Given the description of an element on the screen output the (x, y) to click on. 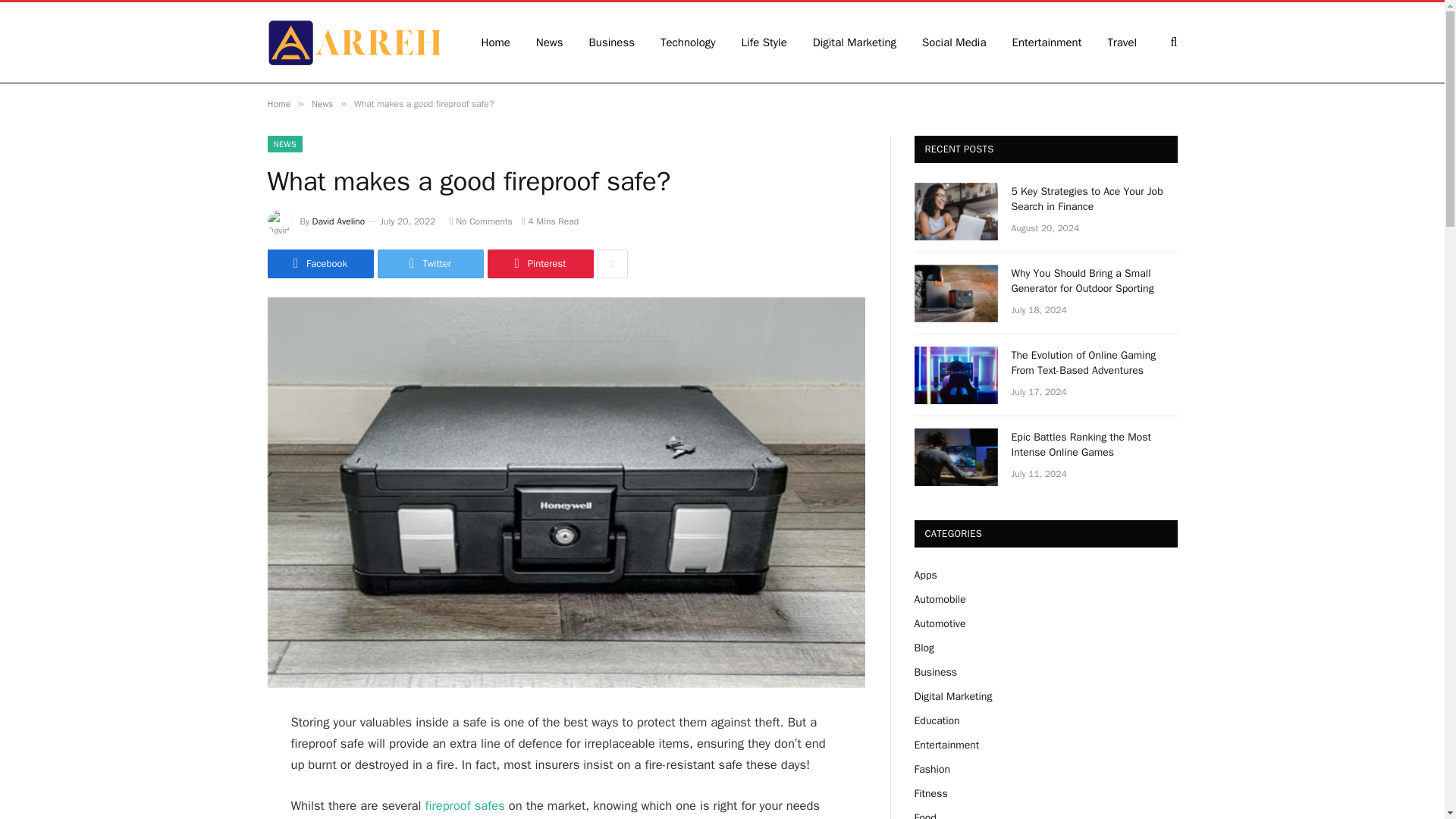
Arreh (353, 42)
Technology (688, 42)
NEWS (284, 143)
Home (277, 103)
Entertainment (1046, 42)
David Avelino (339, 221)
Pinterest (539, 263)
Digital Marketing (853, 42)
Share on Facebook (319, 263)
